Given the description of an element on the screen output the (x, y) to click on. 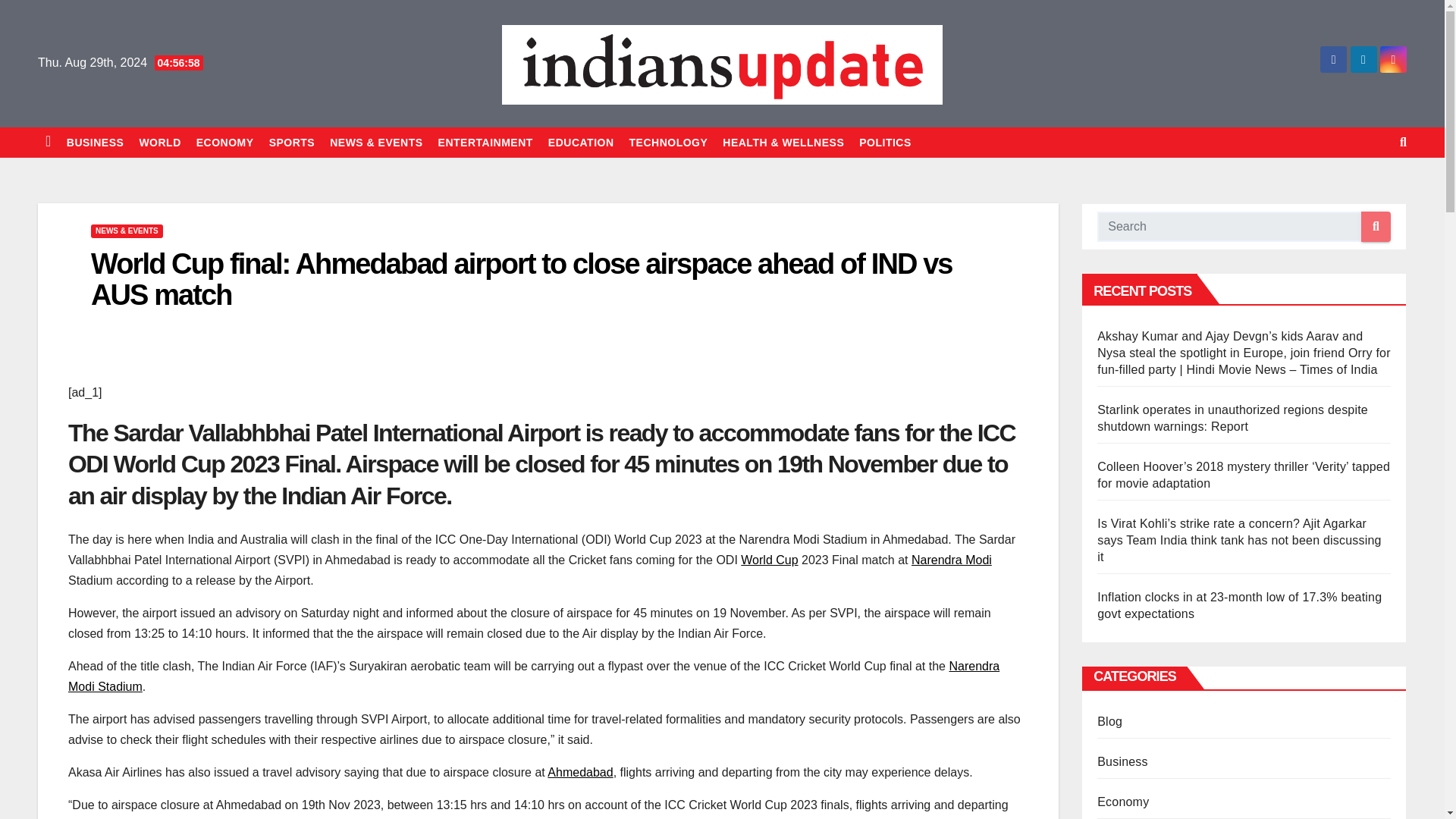
Education (580, 142)
Entertainment (485, 142)
ENTERTAINMENT (485, 142)
Politics (884, 142)
Business (95, 142)
POLITICS (884, 142)
SPORTS (292, 142)
Economy (225, 142)
Technology (668, 142)
